Given the description of an element on the screen output the (x, y) to click on. 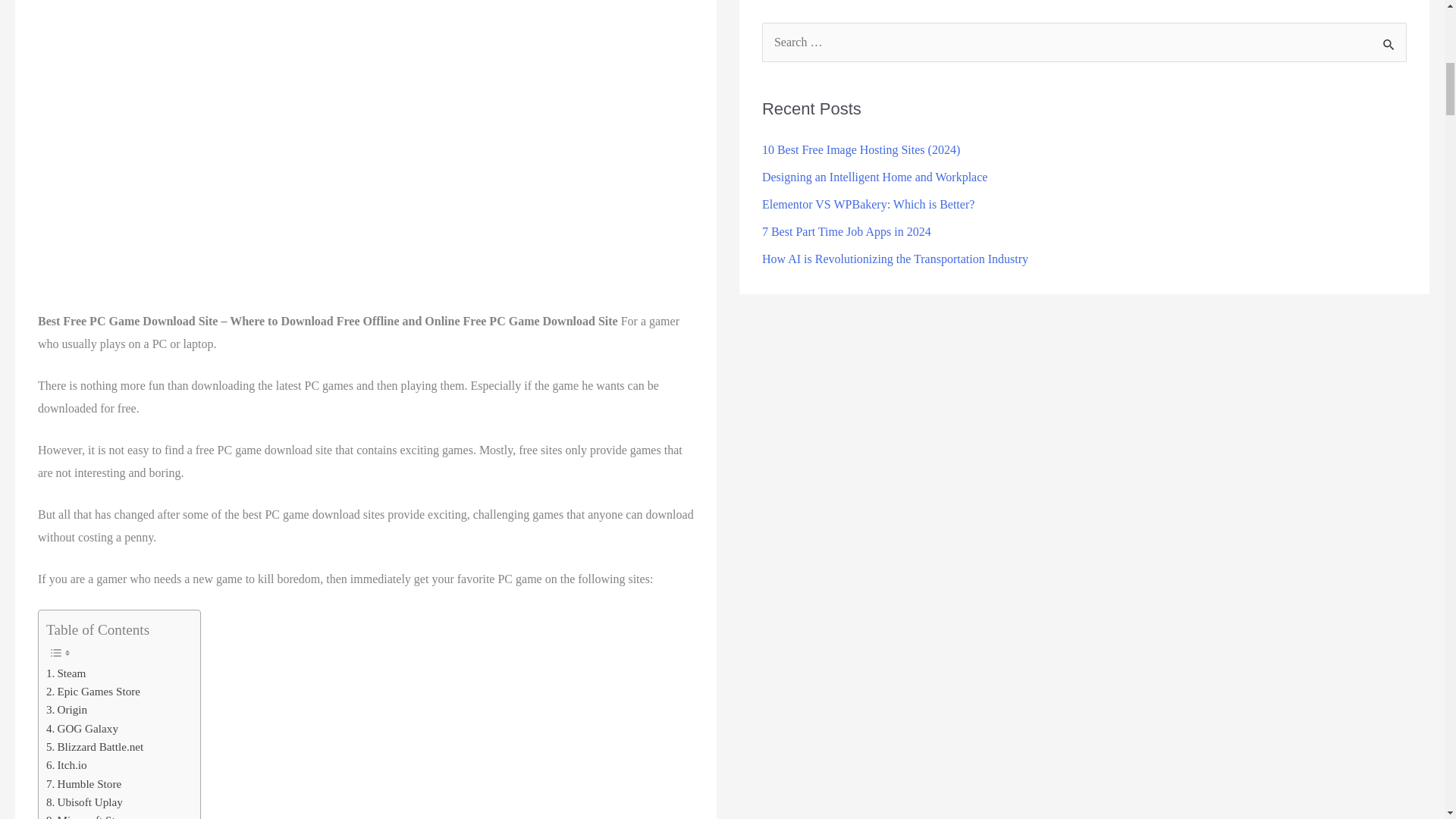
Itch.io (66, 764)
Ubisoft Uplay (84, 802)
Microsoft Store (87, 815)
Blizzard Battle.net (94, 746)
Humble Store (83, 783)
Origin (66, 710)
GOG Galaxy (81, 728)
Steam (65, 673)
Epic Games Store (92, 691)
